Given the description of an element on the screen output the (x, y) to click on. 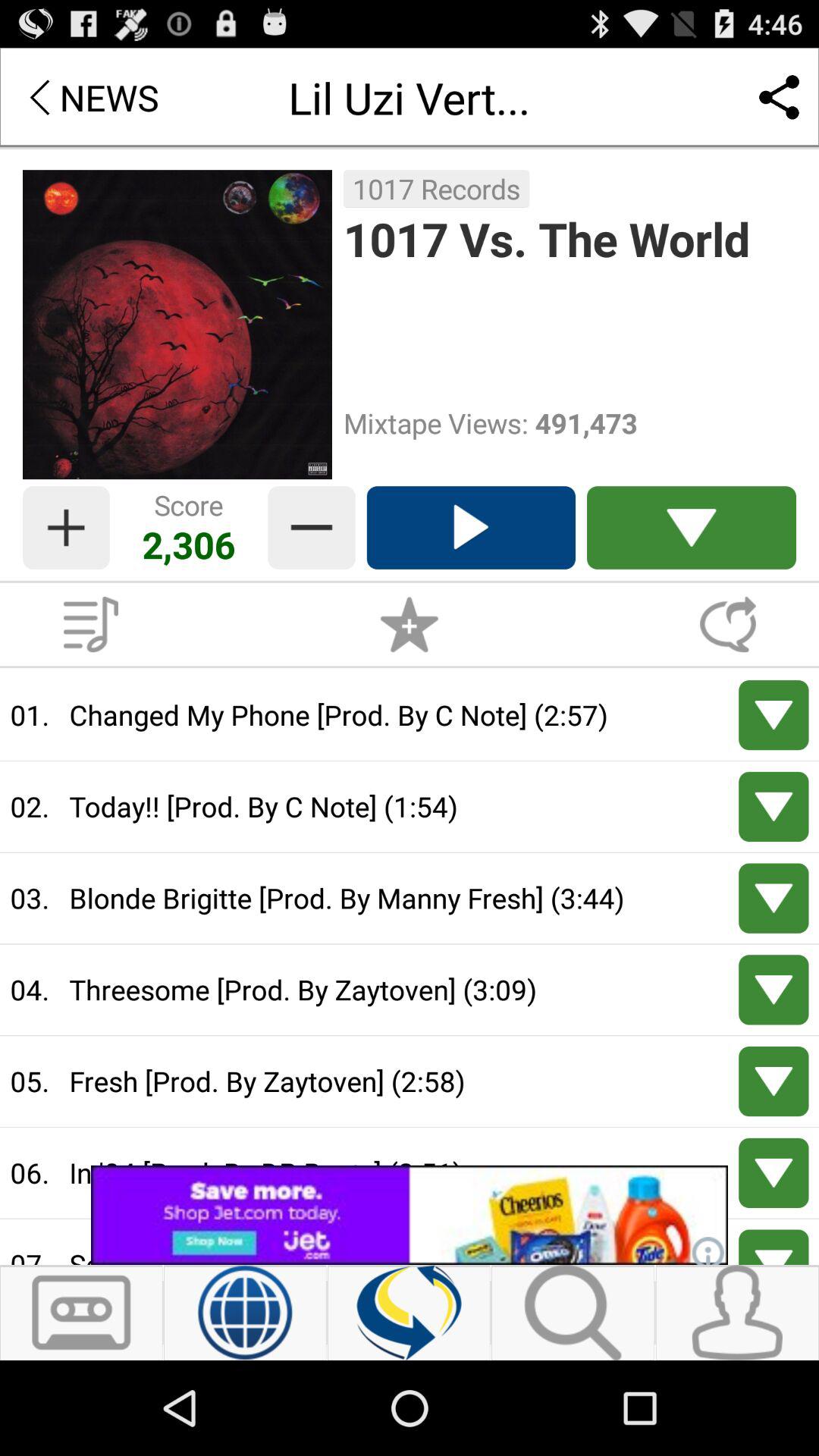
down track today (773, 806)
